Given the description of an element on the screen output the (x, y) to click on. 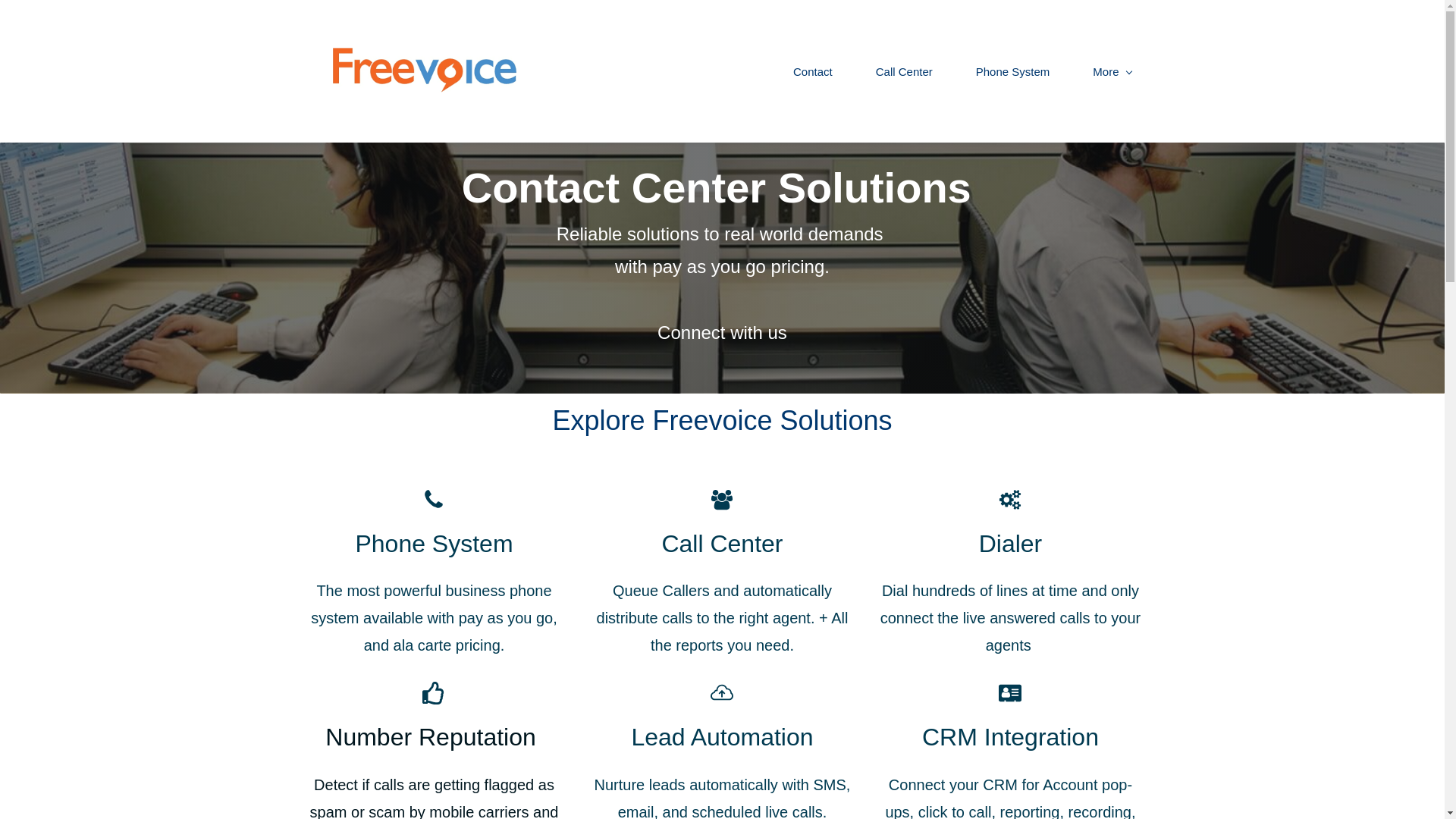
Phone System (1012, 71)
CRM Integration (1010, 737)
More (1111, 71)
Call Center (722, 543)
Phone System (433, 543)
Contact (812, 71)
Dialer (1010, 543)
Lead Automation (721, 737)
Call Center (903, 71)
Phone System (433, 543)
